Given the description of an element on the screen output the (x, y) to click on. 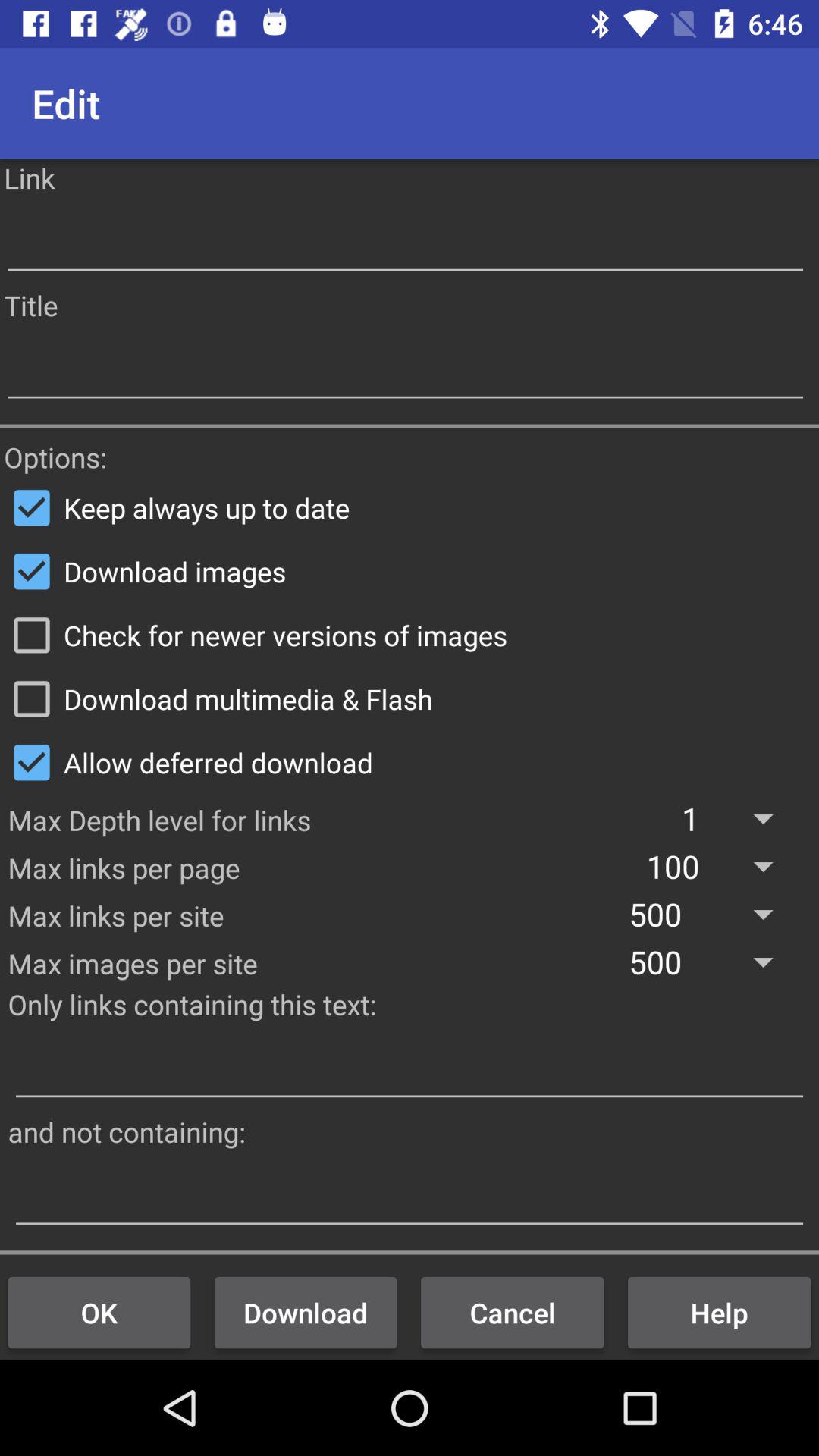
turn off the icon above the check for newer (409, 571)
